Given the description of an element on the screen output the (x, y) to click on. 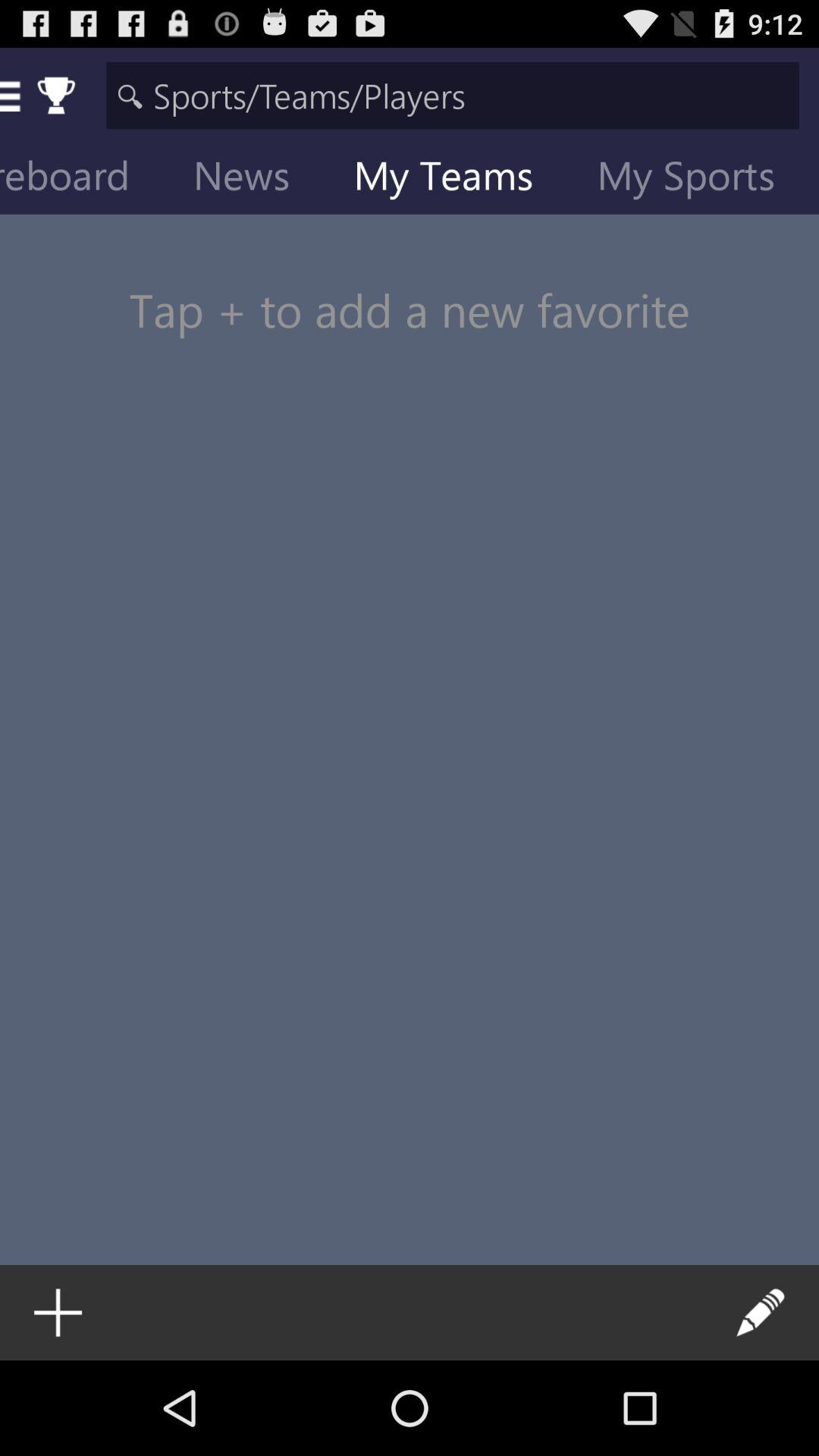
tap icon to the right of scoreboard (253, 178)
